Given the description of an element on the screen output the (x, y) to click on. 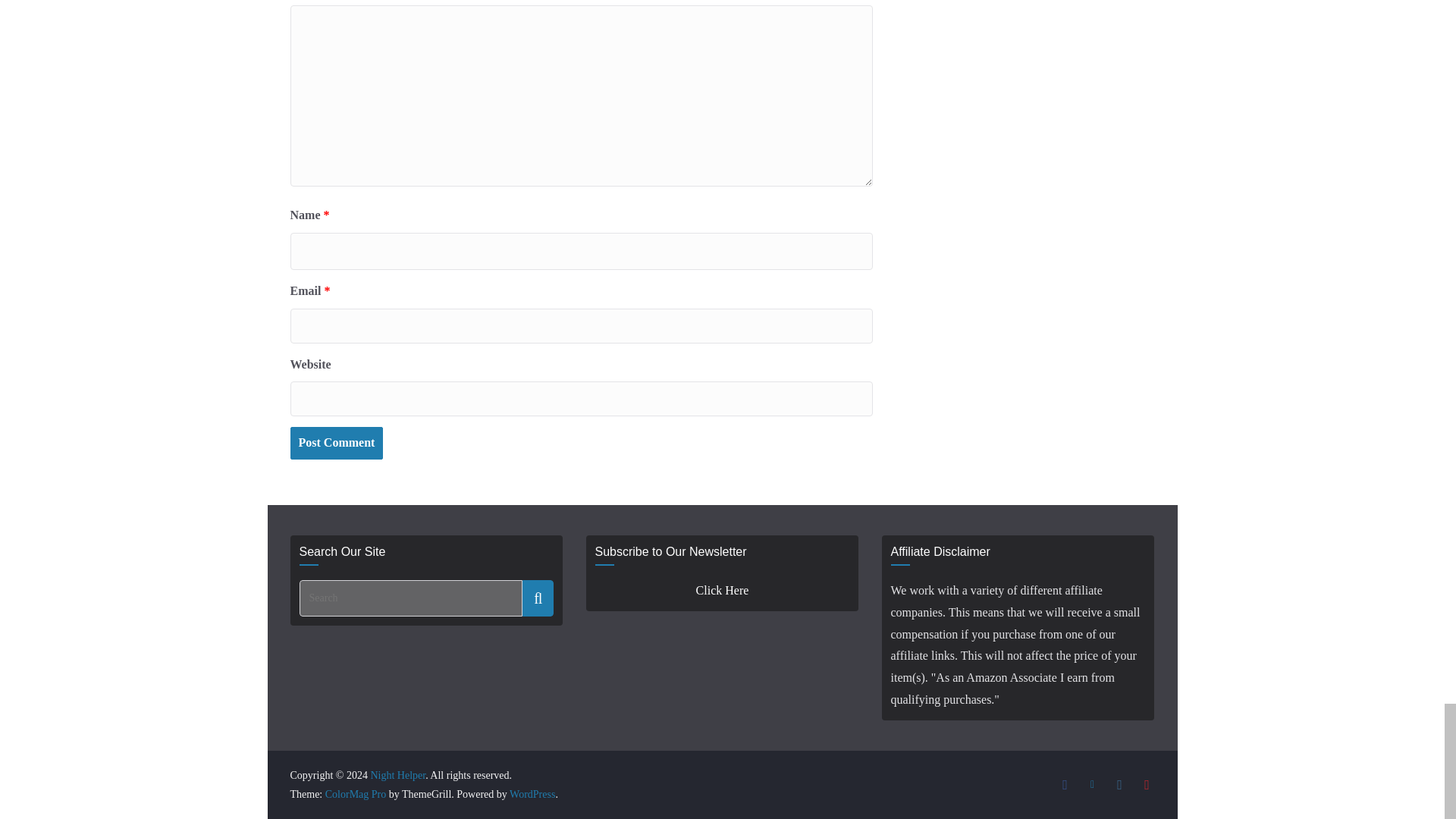
Post Comment (335, 442)
